Given the description of an element on the screen output the (x, y) to click on. 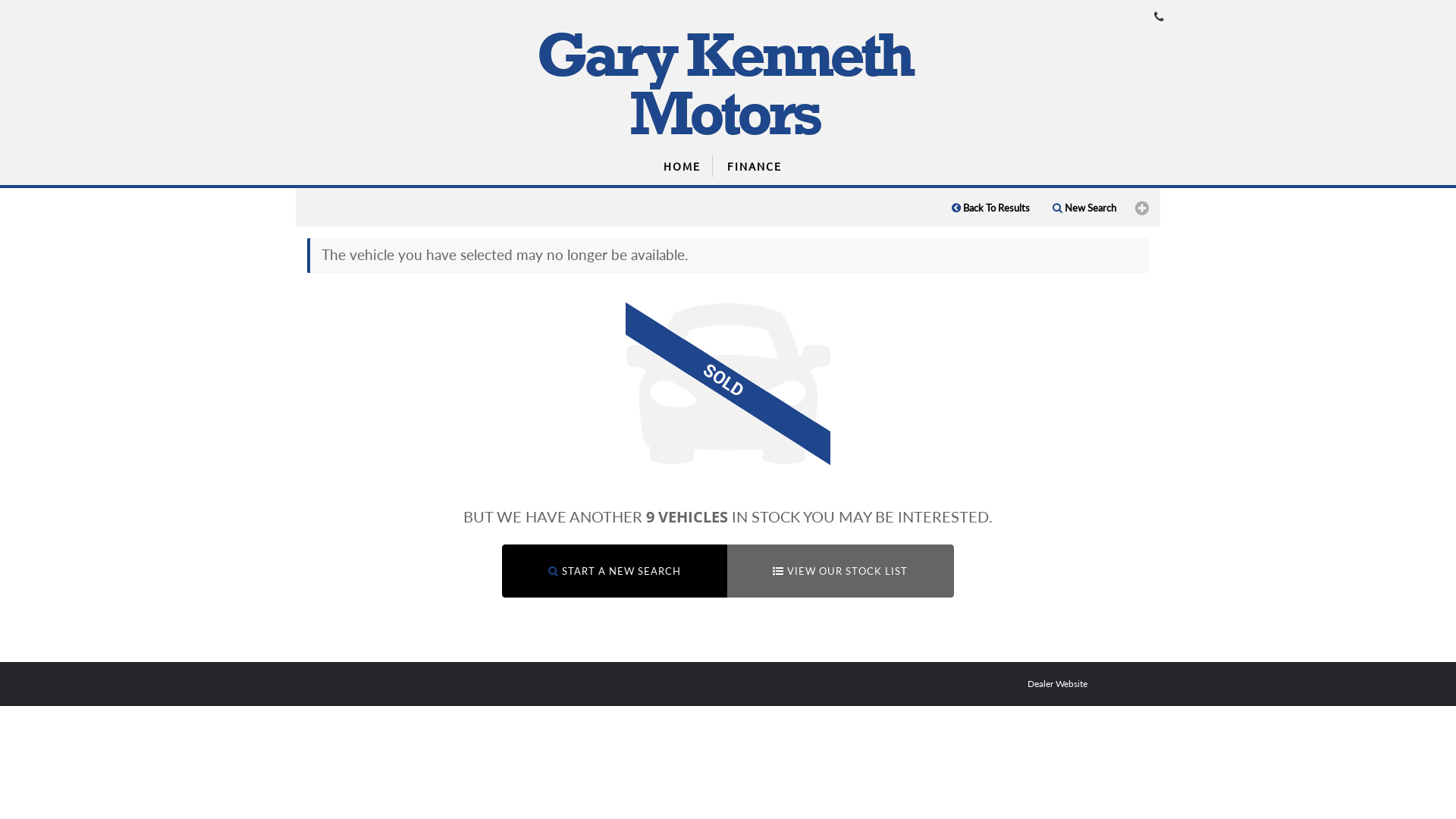
VIEW OUR STOCK LIST Element type: text (839, 571)
HOME Element type: text (679, 165)
Back To Results Element type: text (990, 207)
Dealer Website Element type: text (1057, 683)
New Search Element type: text (1084, 207)
Call Us Now! Element type: hover (1158, 16)
START A NEW SEARCH Element type: text (614, 571)
FINANCE Element type: text (754, 165)
